Given the description of an element on the screen output the (x, y) to click on. 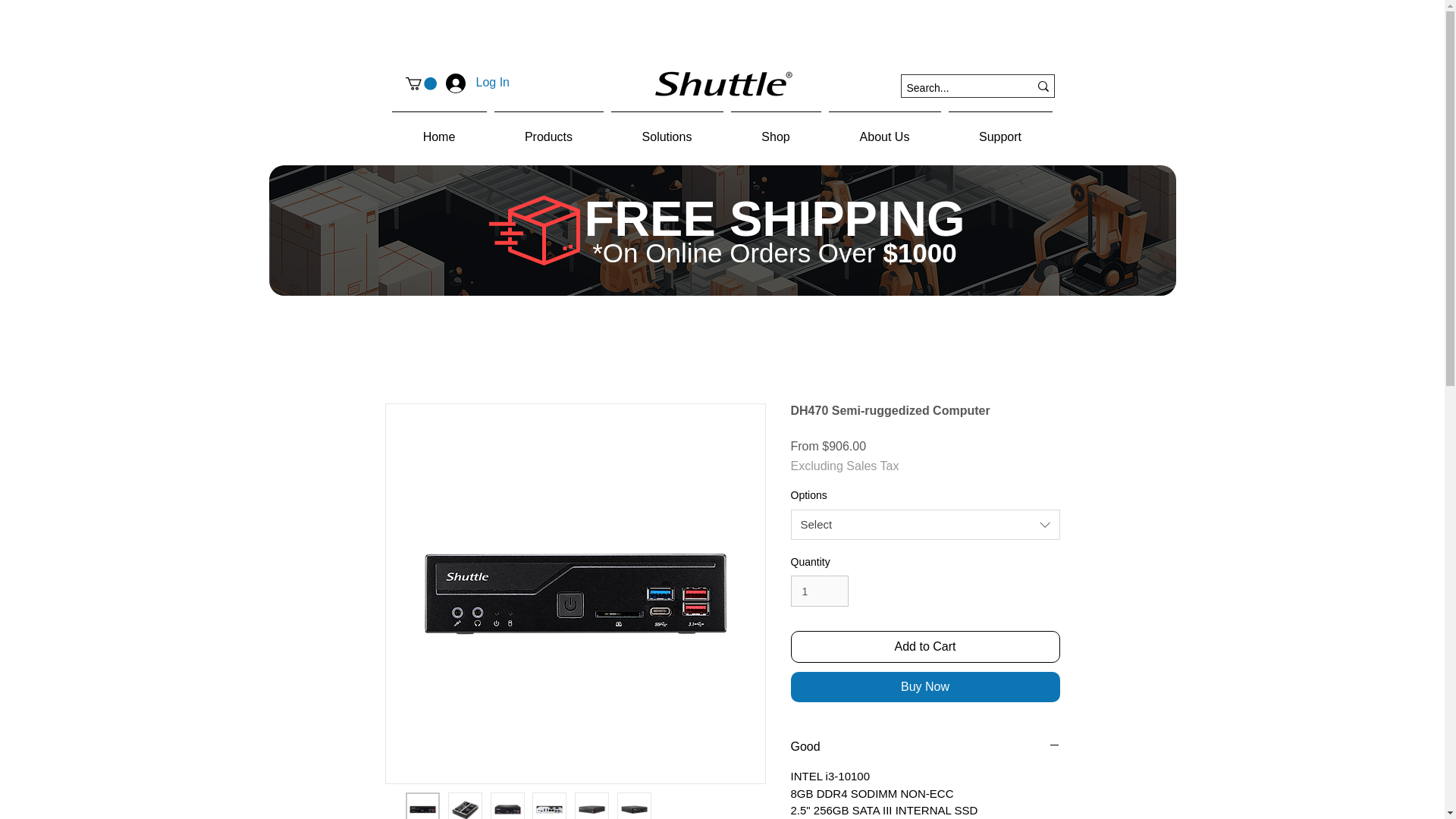
Support (1000, 129)
FREE SHIPPING (773, 218)
Shop (775, 129)
1 (818, 590)
Home (439, 129)
Select (924, 524)
Solutions (666, 129)
About Us (884, 129)
Products (548, 129)
Good (924, 746)
